Given the description of an element on the screen output the (x, y) to click on. 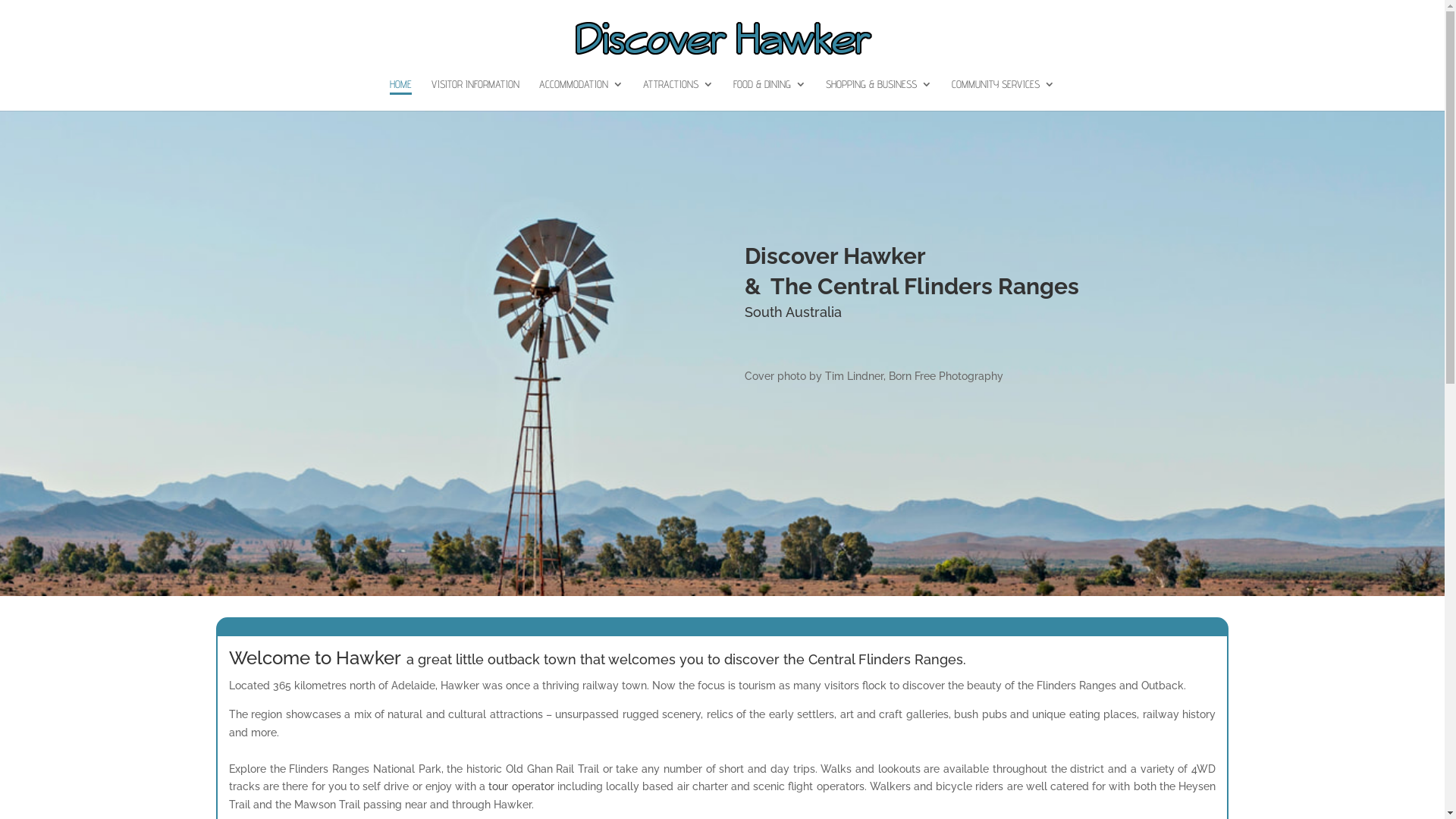
SHOPPING & BUSINESS Element type: text (878, 94)
FOOD & DINING Element type: text (769, 94)
ATTRACTIONS Element type: text (678, 94)
VISITOR INFORMATION Element type: text (475, 94)
ACCOMMODATION Element type: text (581, 94)
HOME Element type: text (400, 94)
COMMUNITY SERVICES Element type: text (1002, 94)
